Given the description of an element on the screen output the (x, y) to click on. 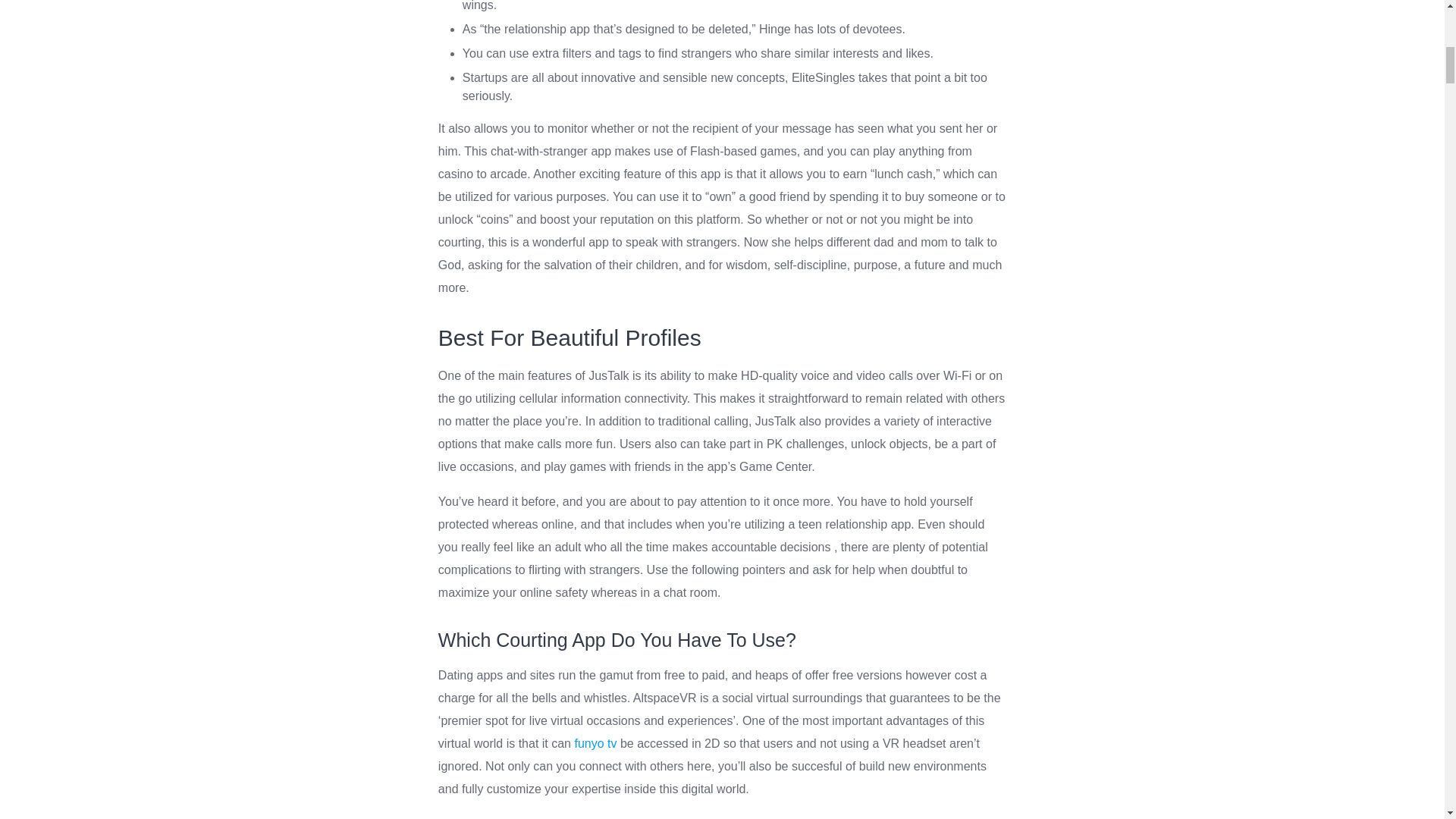
funyo tv (594, 743)
